Given the description of an element on the screen output the (x, y) to click on. 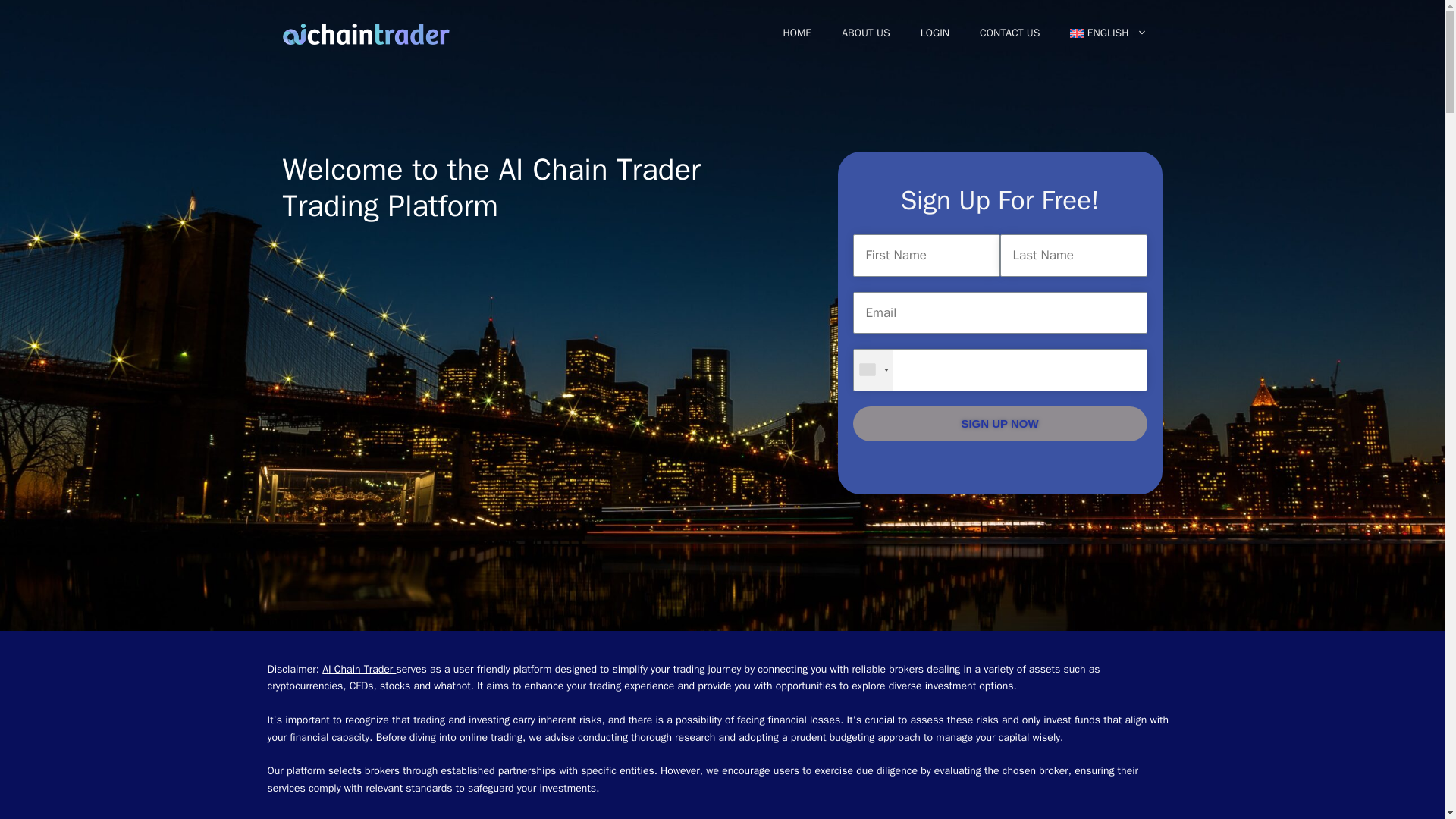
HOME (797, 32)
English (1107, 32)
ENGLISH (1107, 32)
ABOUT US (866, 32)
LOGIN (934, 32)
SIGN UP NOW (999, 424)
AI Chain Trader (358, 668)
CONTACT US (1008, 32)
